Given the description of an element on the screen output the (x, y) to click on. 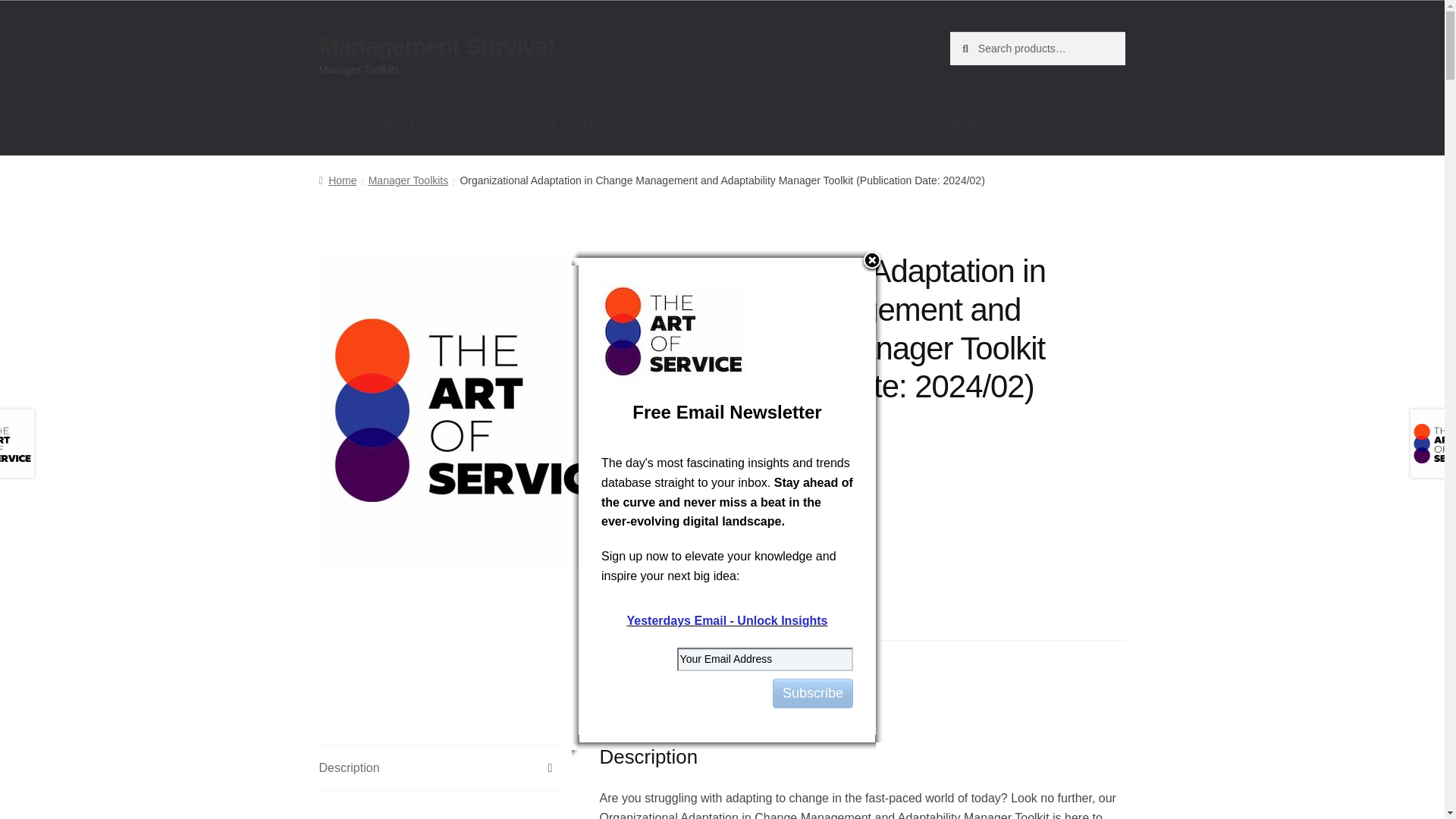
Manager Toolkits (762, 659)
1 (694, 549)
Checkout (529, 124)
Description (441, 768)
My account (613, 124)
Privacy Policy (709, 124)
View your shopping cart (1037, 124)
Subscribe (813, 693)
PayPal (897, 618)
Add to cart (780, 549)
Management Survival (436, 45)
About Us (400, 124)
Manager Toolkits (408, 180)
Home (337, 180)
